Given the description of an element on the screen output the (x, y) to click on. 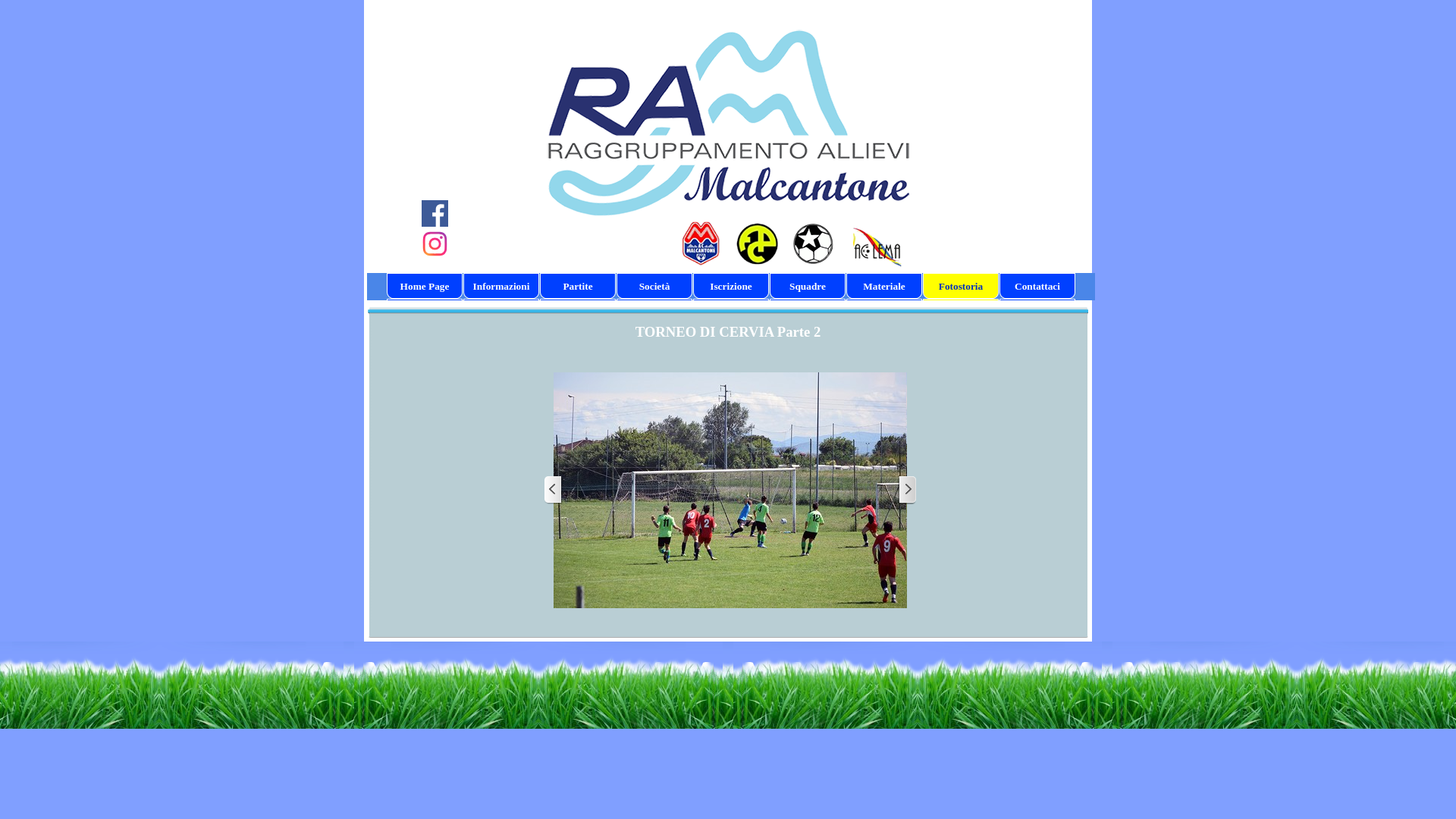
Informazioni Element type: text (500, 286)
Home Page Element type: text (424, 286)
